Given the description of an element on the screen output the (x, y) to click on. 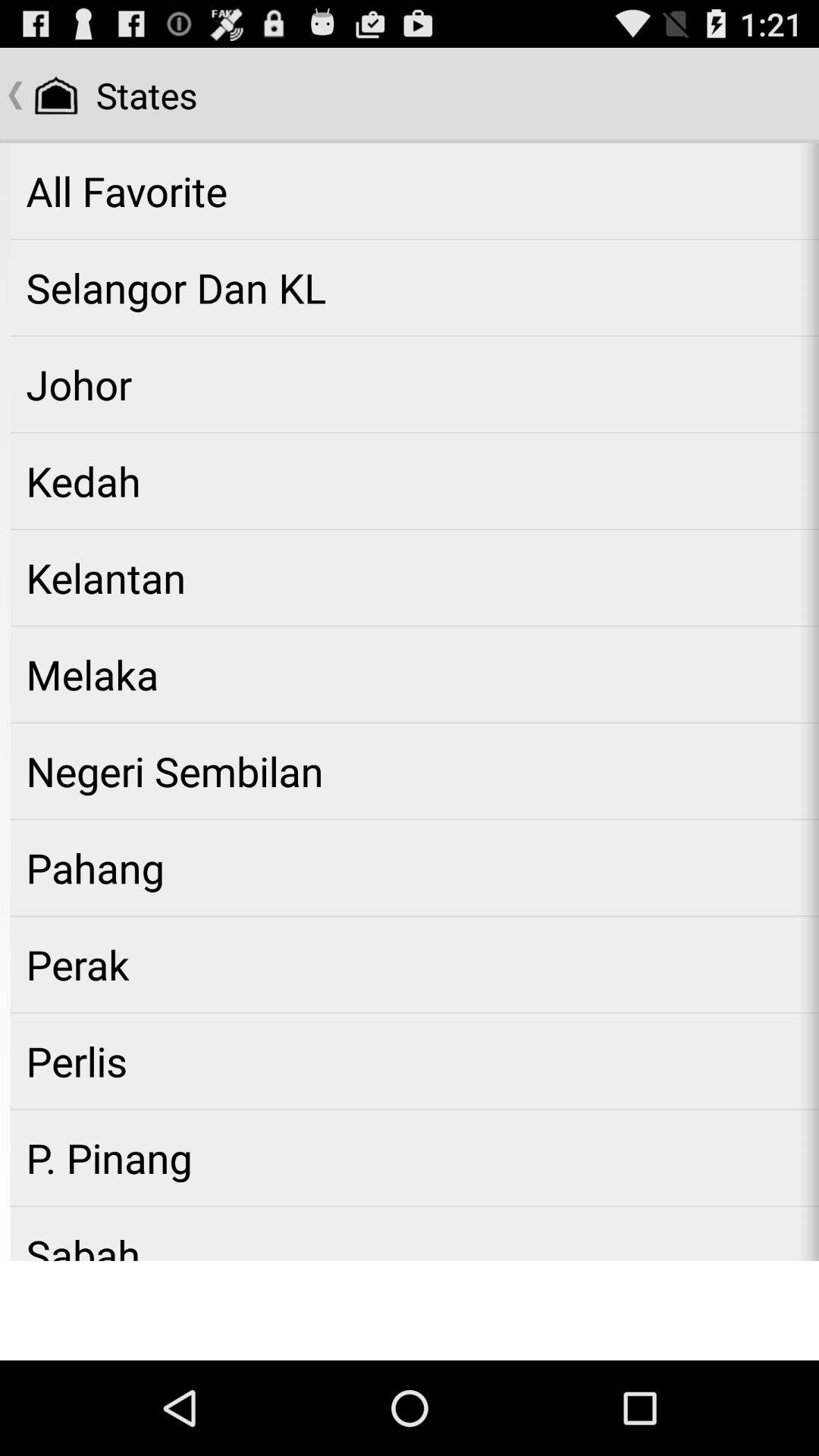
open perlis (414, 1061)
